Given the description of an element on the screen output the (x, y) to click on. 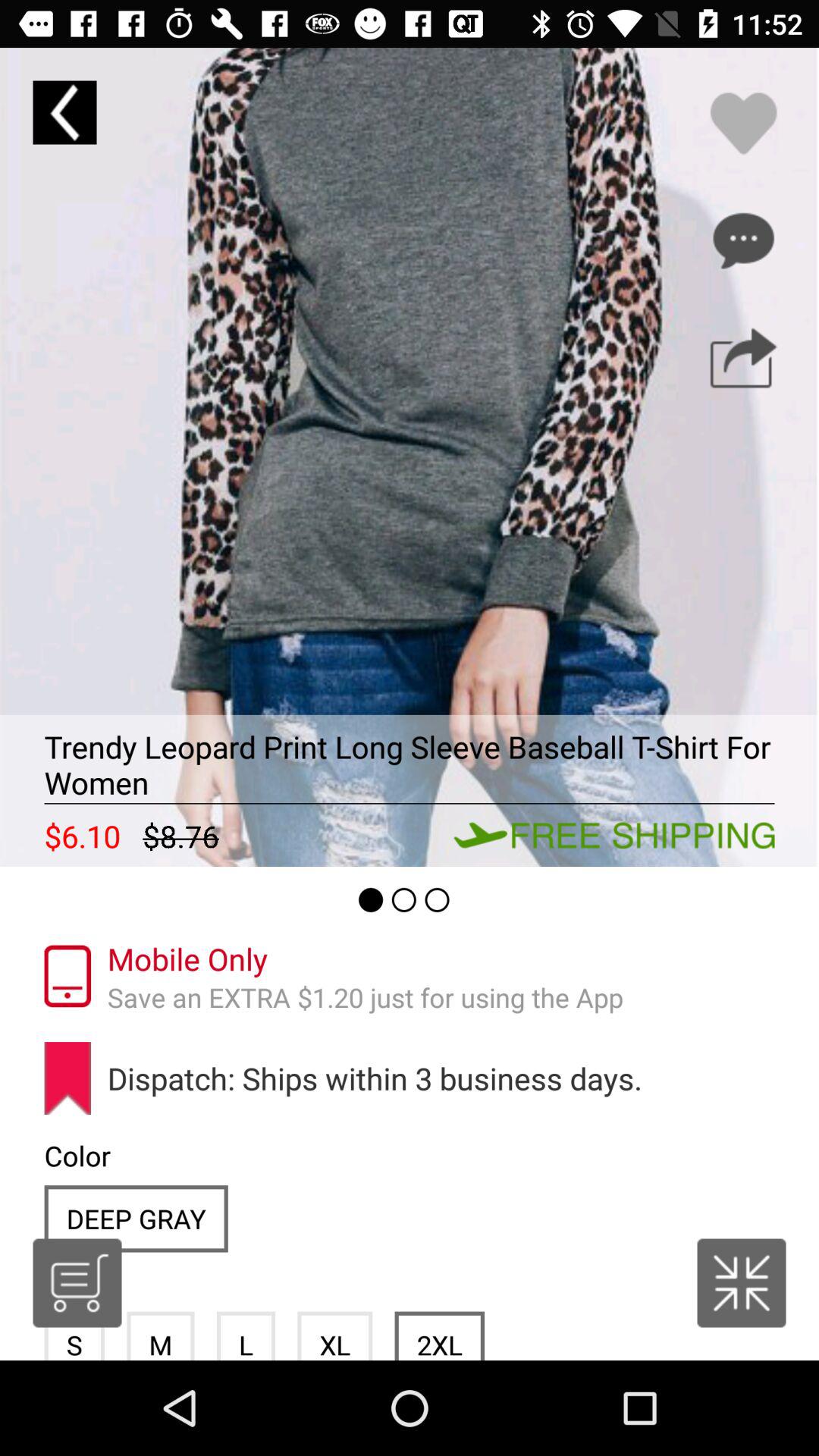
turn on item below the color (76, 1282)
